Given the description of an element on the screen output the (x, y) to click on. 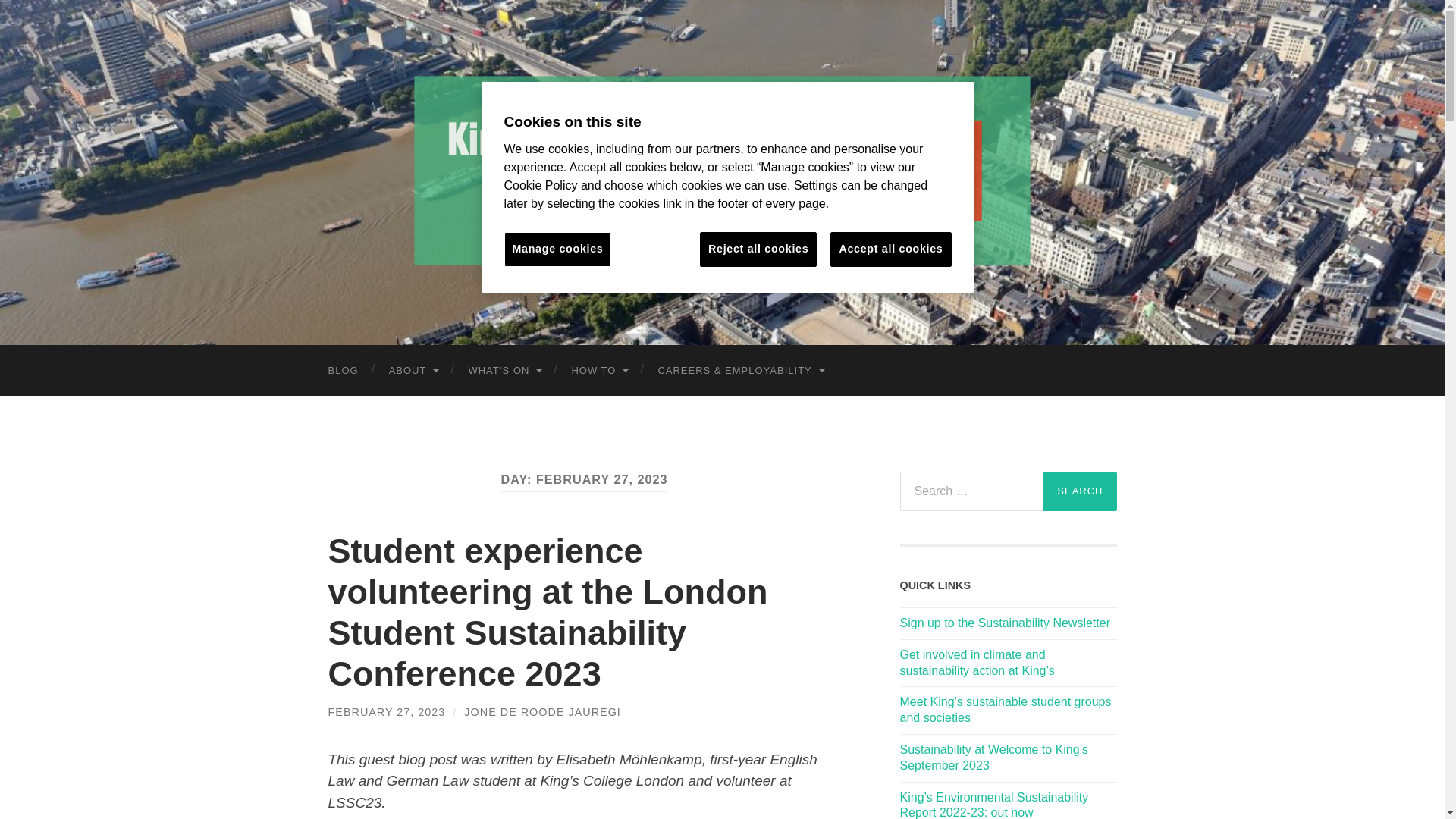
Search (1079, 491)
King's Sustainability (721, 170)
ABOUT (413, 369)
Search (1079, 491)
HOW TO (599, 369)
Posts by Jone De Roode Jauregi (542, 711)
BLOG (342, 369)
